Given the description of an element on the screen output the (x, y) to click on. 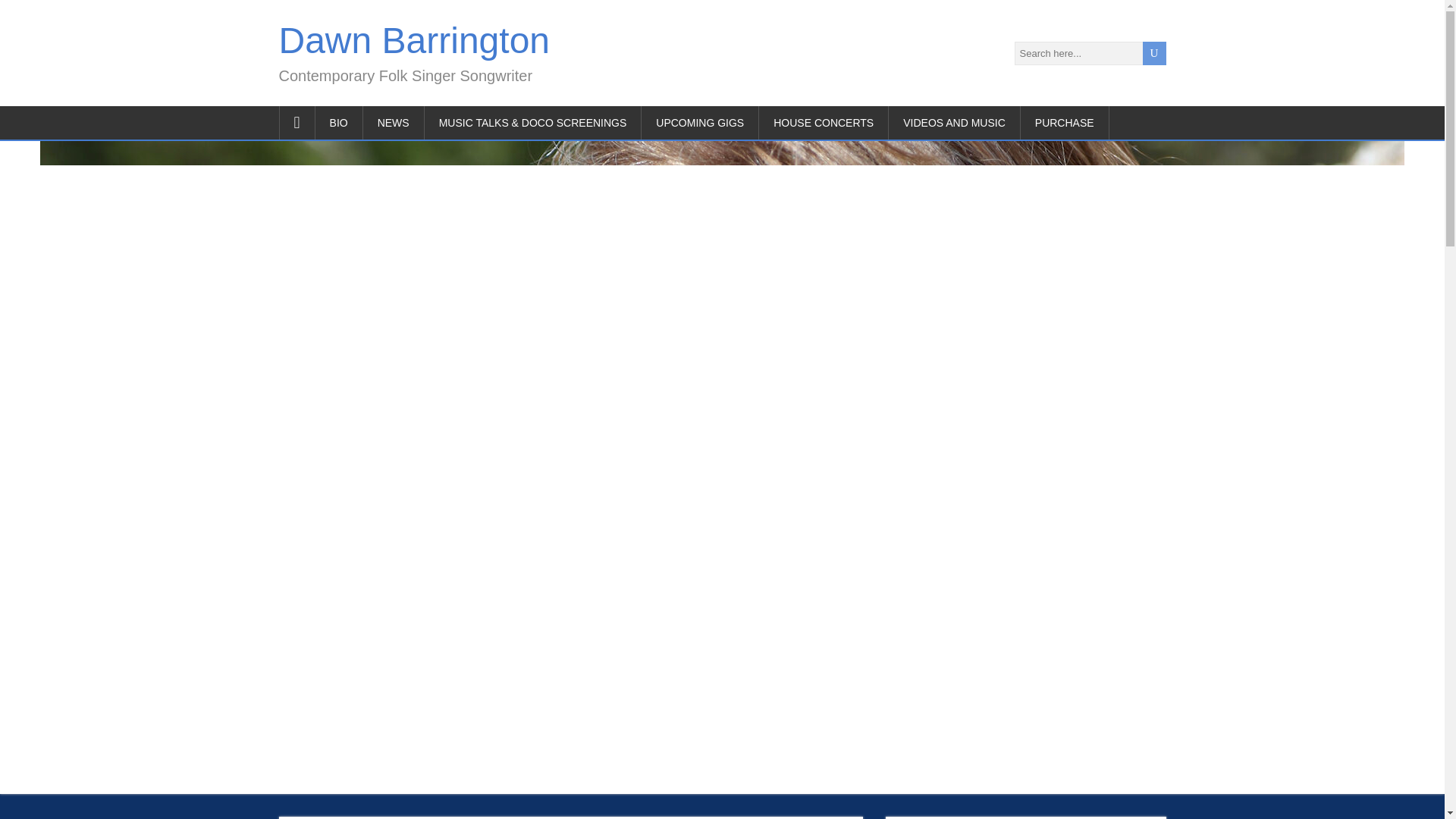
U (1153, 53)
BIO (338, 122)
Dawn Barrington (414, 40)
U (1153, 53)
U (1153, 53)
NEWS (393, 122)
